Given the description of an element on the screen output the (x, y) to click on. 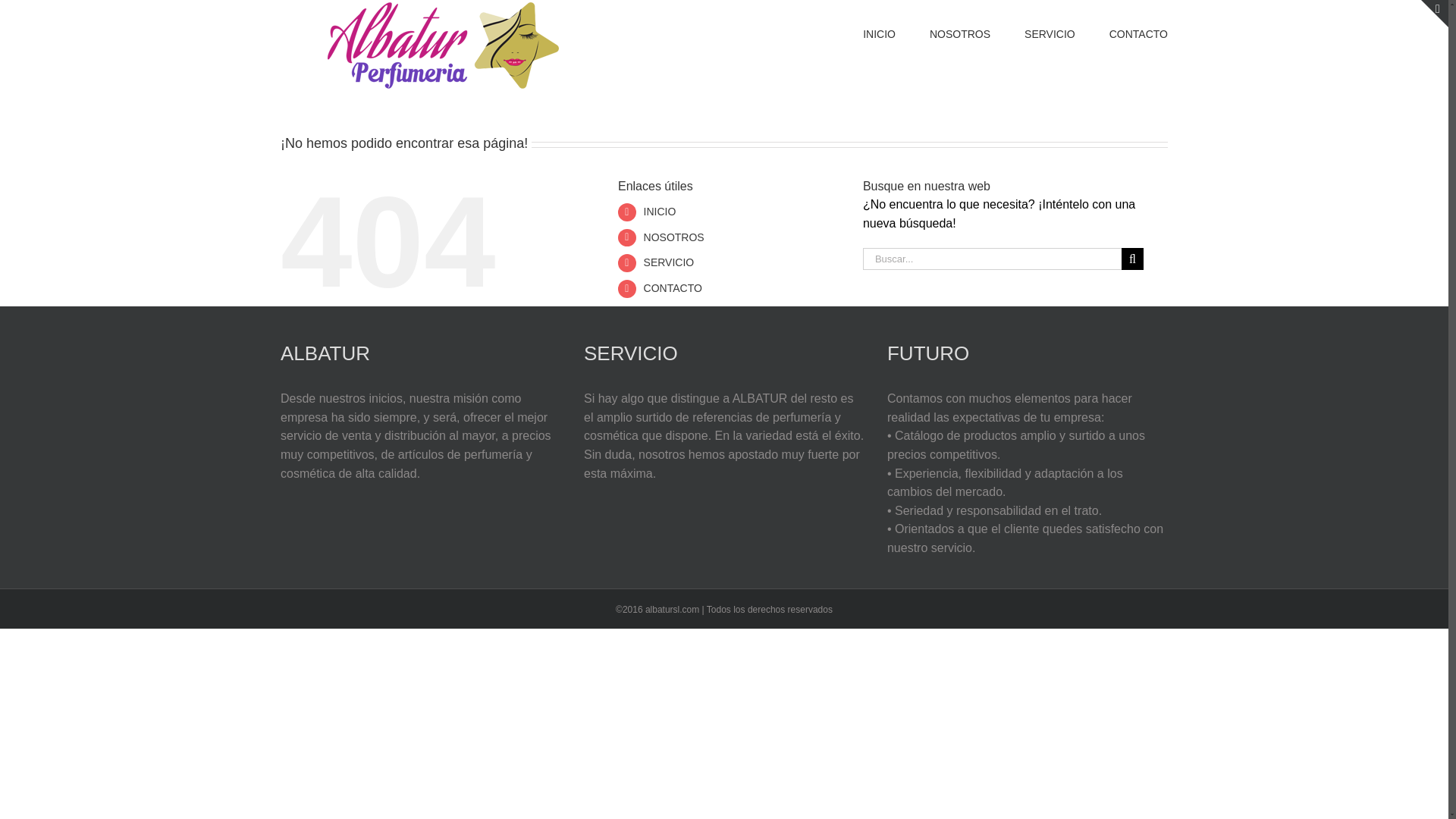
NOSOTROS (673, 236)
INICIO (660, 211)
SERVICIO (668, 262)
CONTACTO (1138, 32)
NOSOTROS (960, 32)
CONTACTO (672, 287)
